Given the description of an element on the screen output the (x, y) to click on. 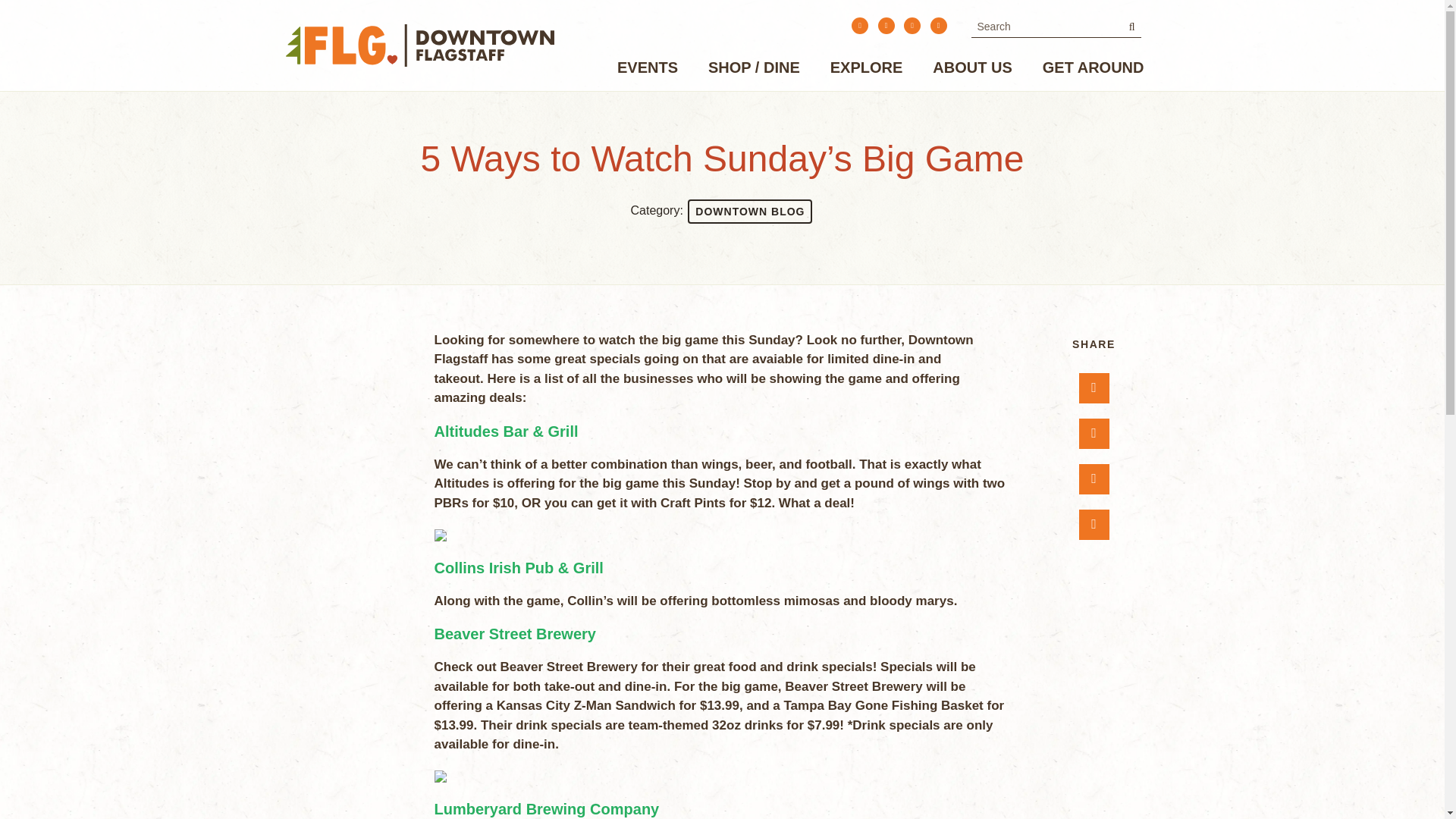
EXPLORE (866, 69)
EVENTS (647, 69)
ABOUT US (971, 69)
